Given the description of an element on the screen output the (x, y) to click on. 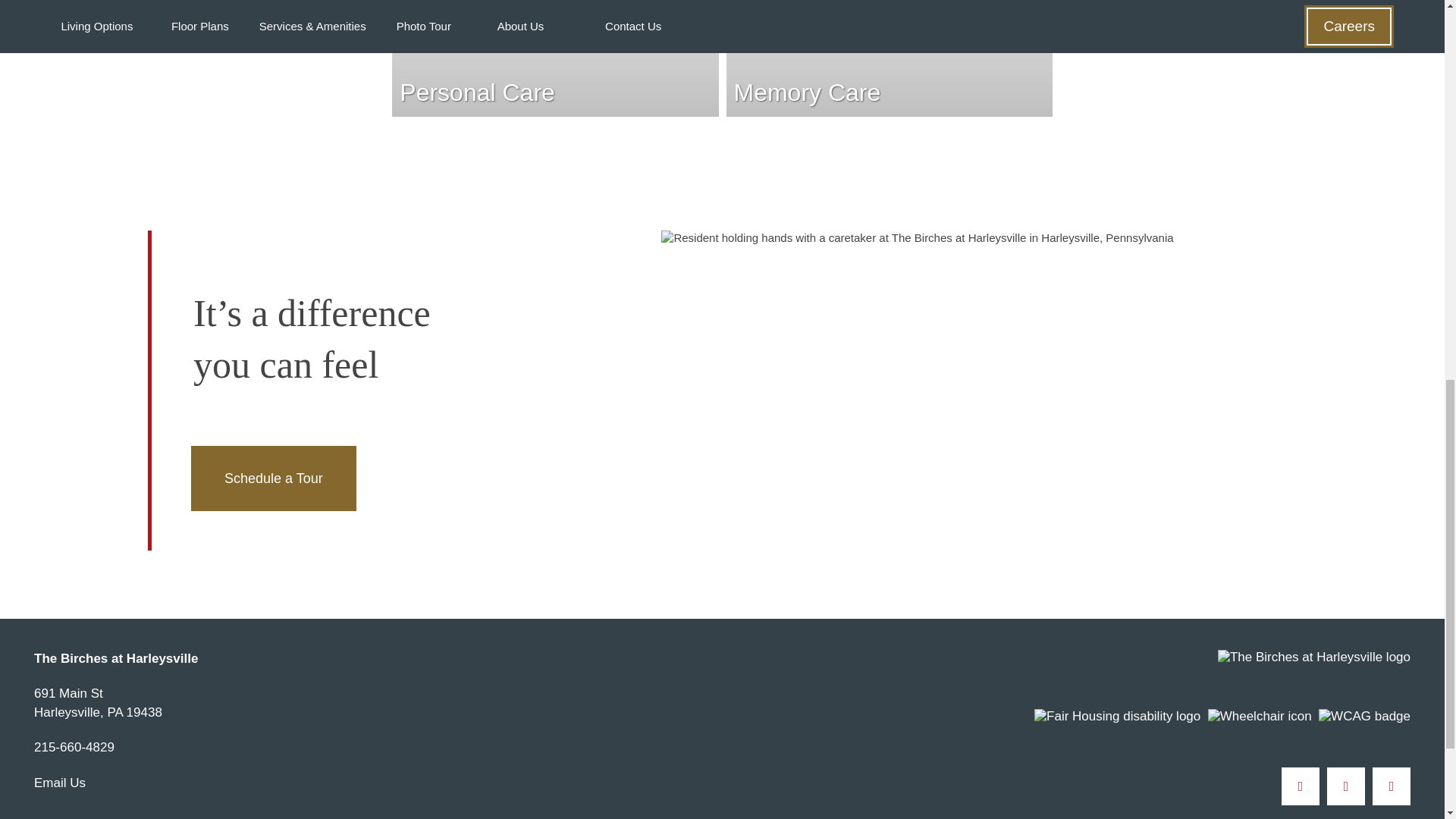
Memory Care (889, 58)
Facebook (1300, 786)
Email Us (59, 783)
Property Phone Number (74, 749)
LinkedIn (1345, 786)
Schedule a Tour (273, 477)
Google My Business (1391, 786)
Personal Care (554, 58)
215-660-4829 (97, 702)
